Given the description of an element on the screen output the (x, y) to click on. 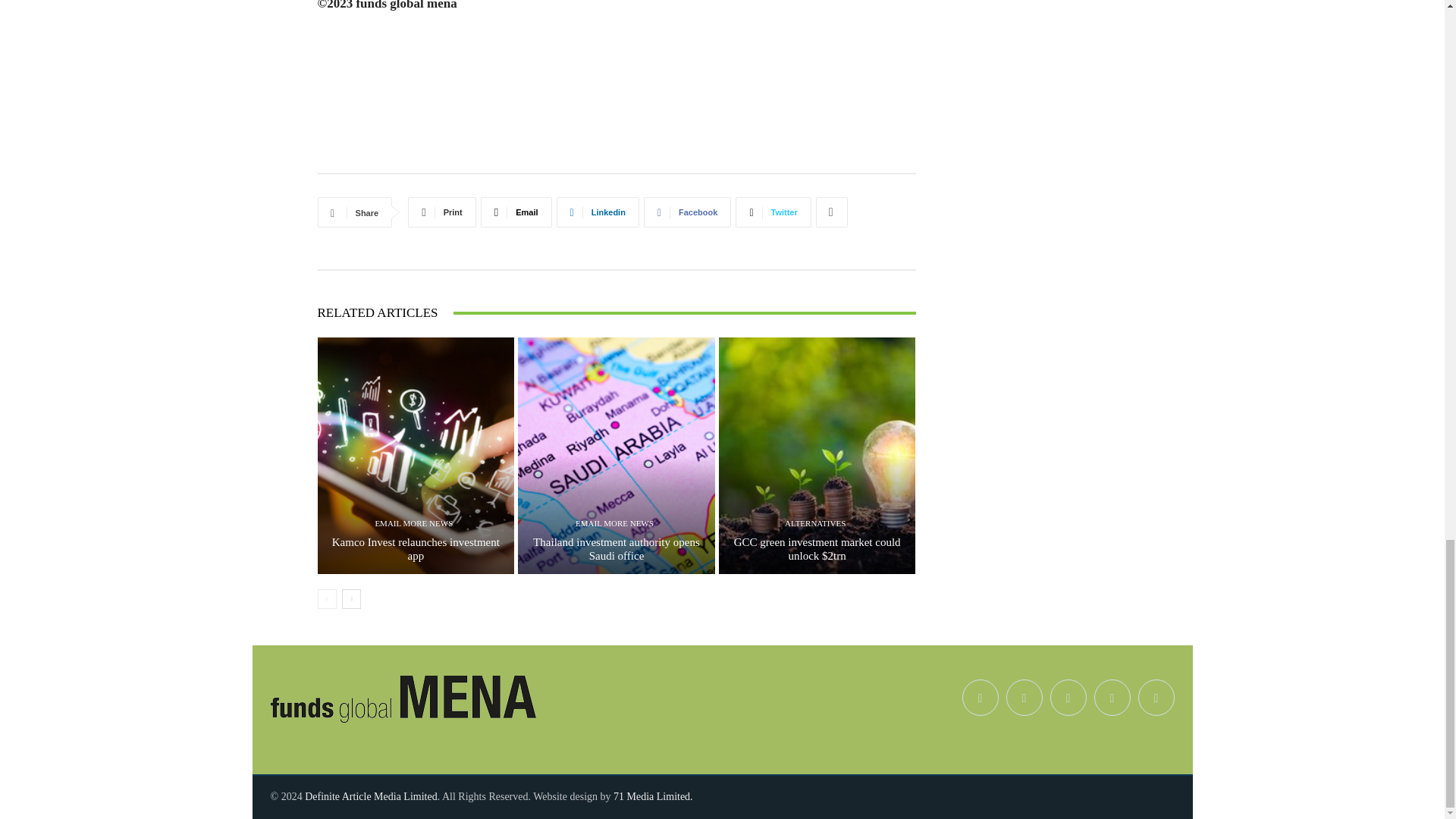
3rd party ad content (616, 117)
